Given the description of an element on the screen output the (x, y) to click on. 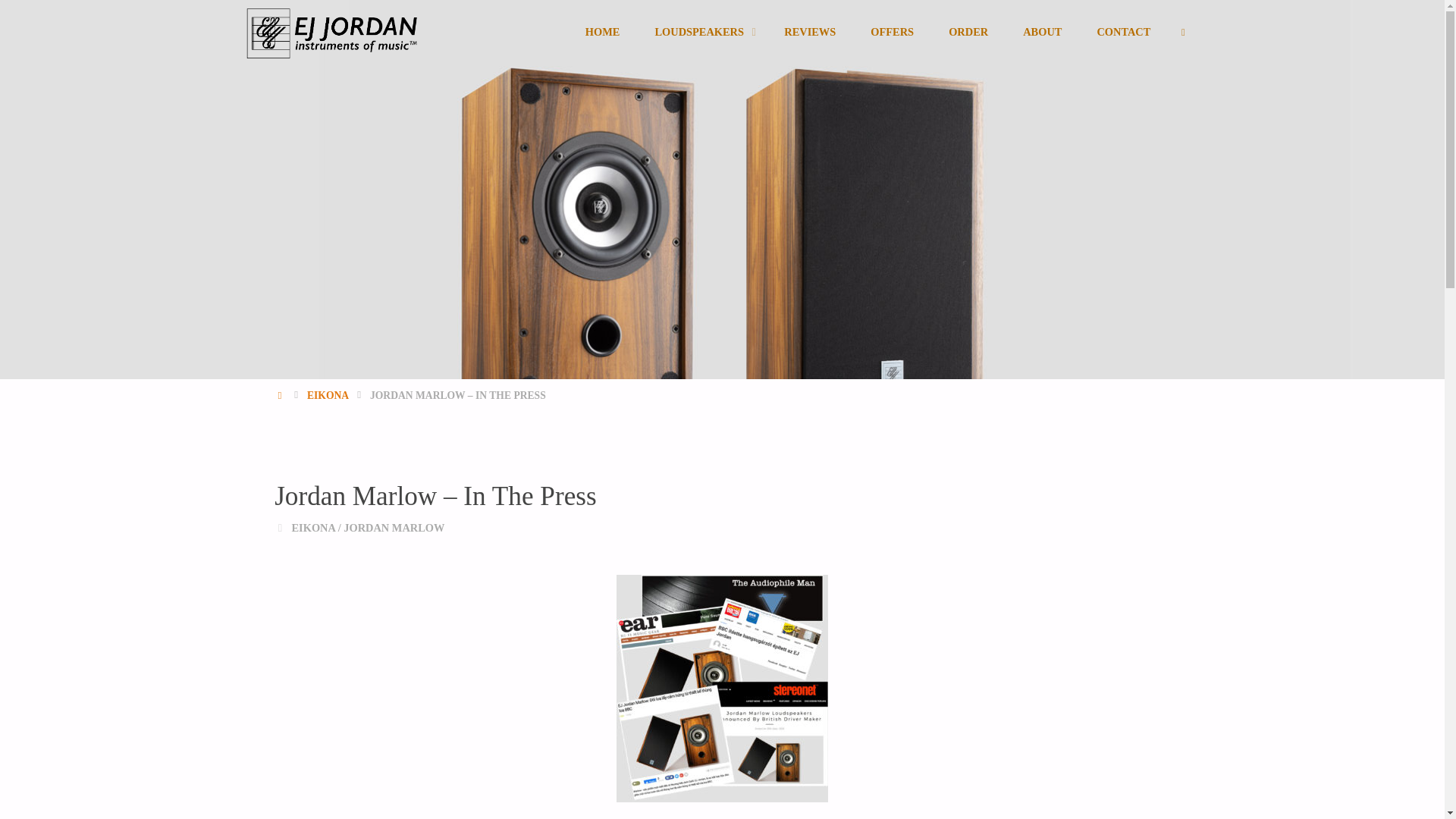
HOME (281, 395)
ABOUT (1042, 32)
ORDER (968, 32)
high fidelity loudspeakers (459, 27)
E J JORDAN (459, 27)
EIKONA (312, 527)
Categories (280, 527)
OFFERS (892, 32)
Skip to content (586, 63)
EIKONA (327, 395)
REVIEWS (810, 32)
Home (281, 395)
LOUDSPEAKERS (702, 32)
SEARCH (1183, 32)
